Given the description of an element on the screen output the (x, y) to click on. 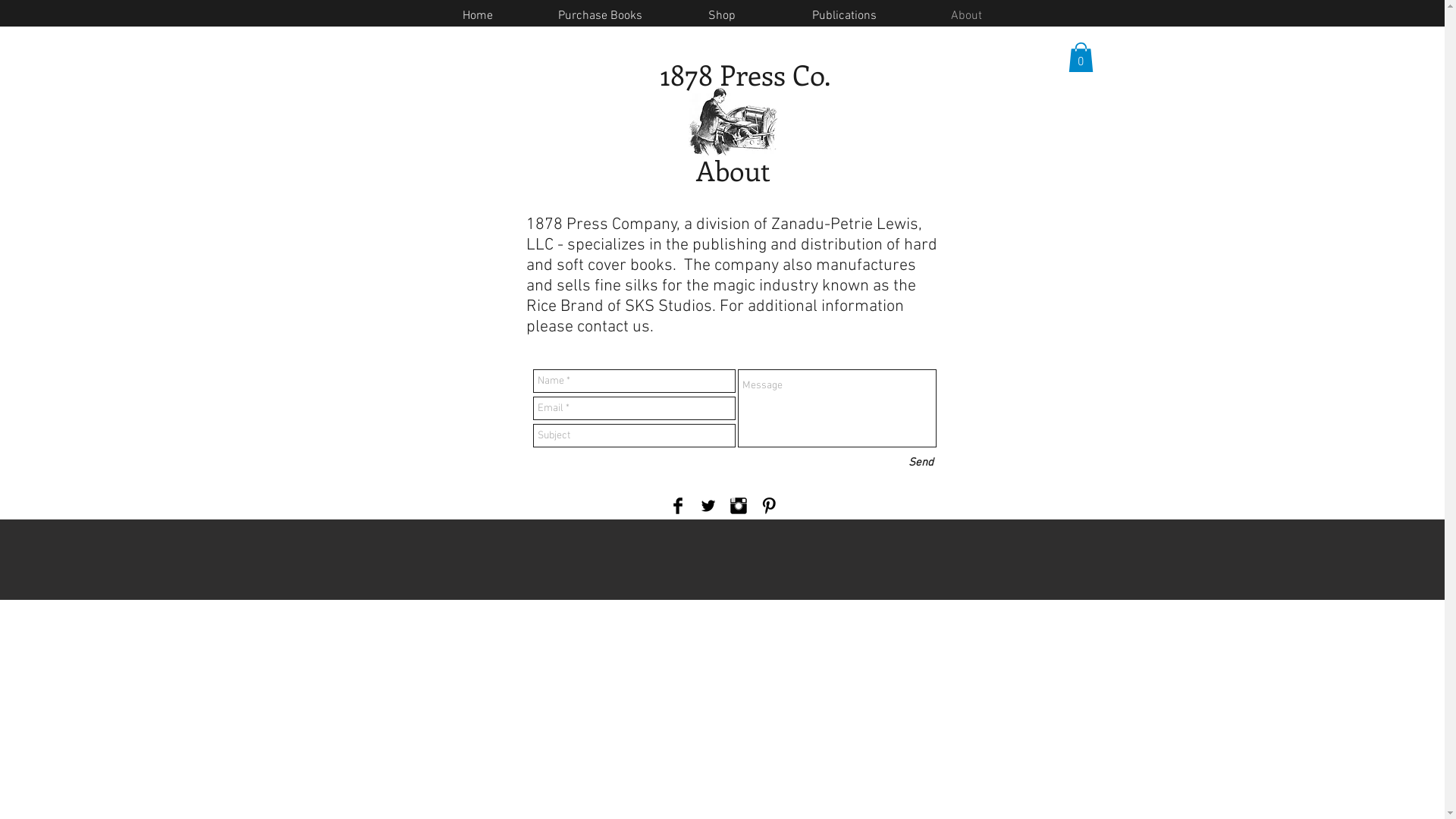
Send Element type: text (919, 462)
Publications Element type: text (843, 15)
About Element type: text (966, 15)
Home Element type: text (478, 15)
Shop Element type: text (722, 15)
0 Element type: text (1079, 57)
1878press guy.jpg Element type: hover (732, 123)
Purchase Books Element type: text (599, 15)
